Given the description of an element on the screen output the (x, y) to click on. 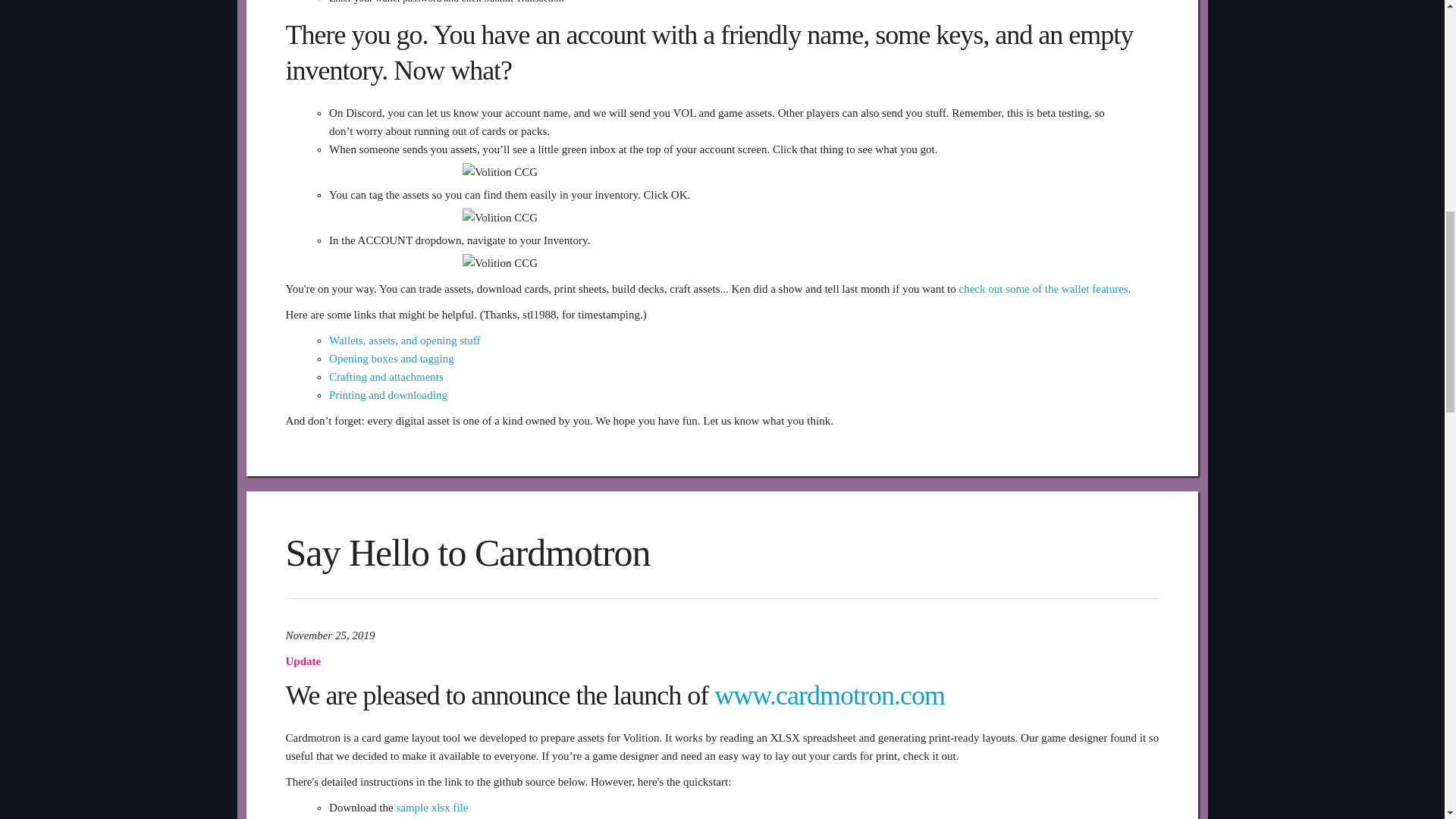
Crafting and attachments (386, 377)
www.cardmotron.com (829, 695)
check out some of the wallet features (1042, 288)
Opening boxes and tagging (391, 358)
sample xlsx file (431, 807)
Printing and downloading (387, 395)
Wallets, assets, and opening stuff (404, 340)
